Given the description of an element on the screen output the (x, y) to click on. 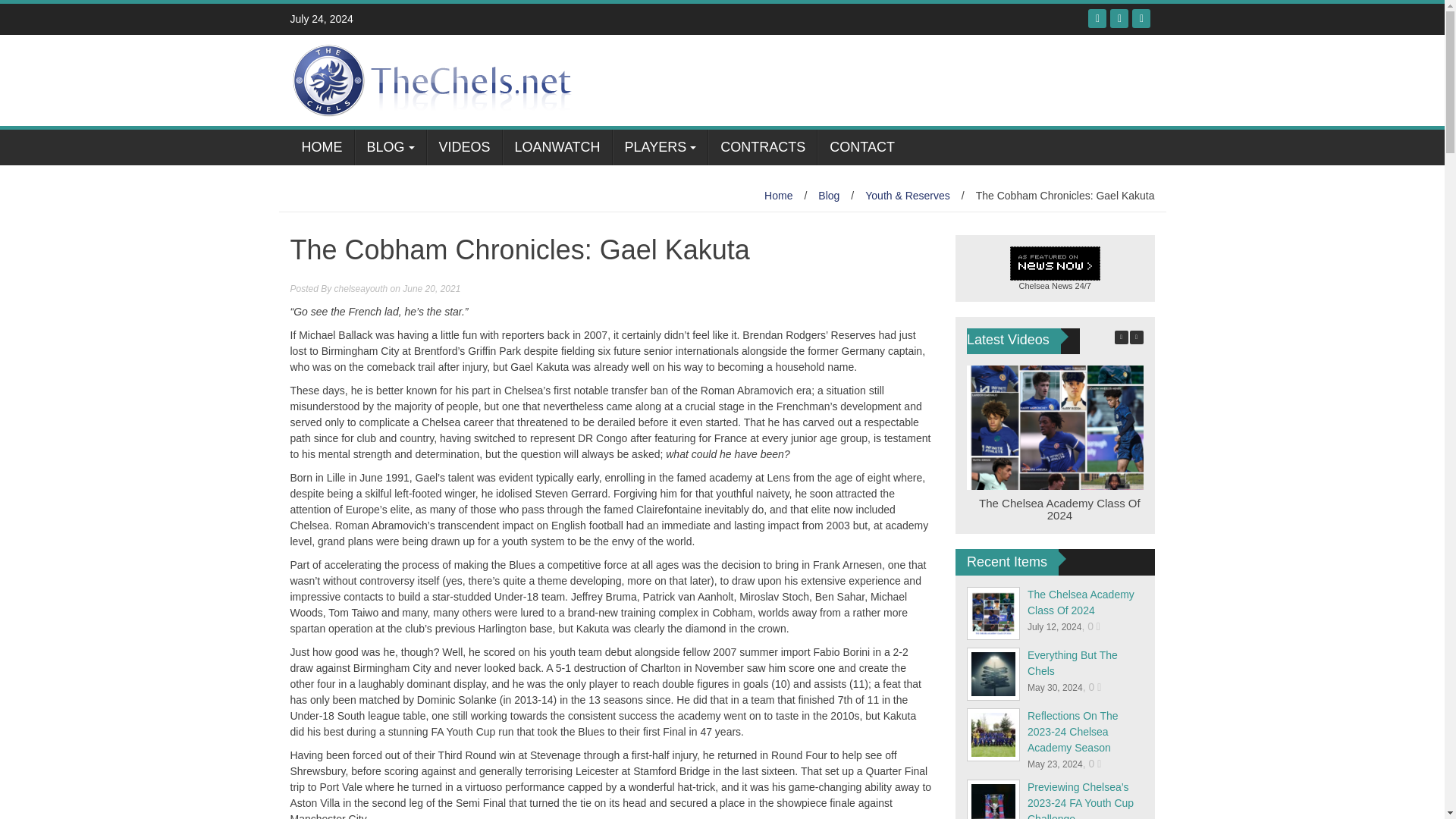
Next (1135, 336)
PLAYERS (659, 147)
Blog (829, 195)
BLOG (390, 147)
Home (778, 195)
Posts by chelseayouth (361, 288)
VIDEOS (464, 147)
chelseayouth (361, 288)
Reflections On The 2023-24 Chelsea Academy Season (1072, 731)
HOME (321, 147)
Previous (1121, 336)
Facebook (1096, 18)
Everything But The Chels (1072, 663)
RSS (1141, 18)
CONTRACTS (761, 147)
